Given the description of an element on the screen output the (x, y) to click on. 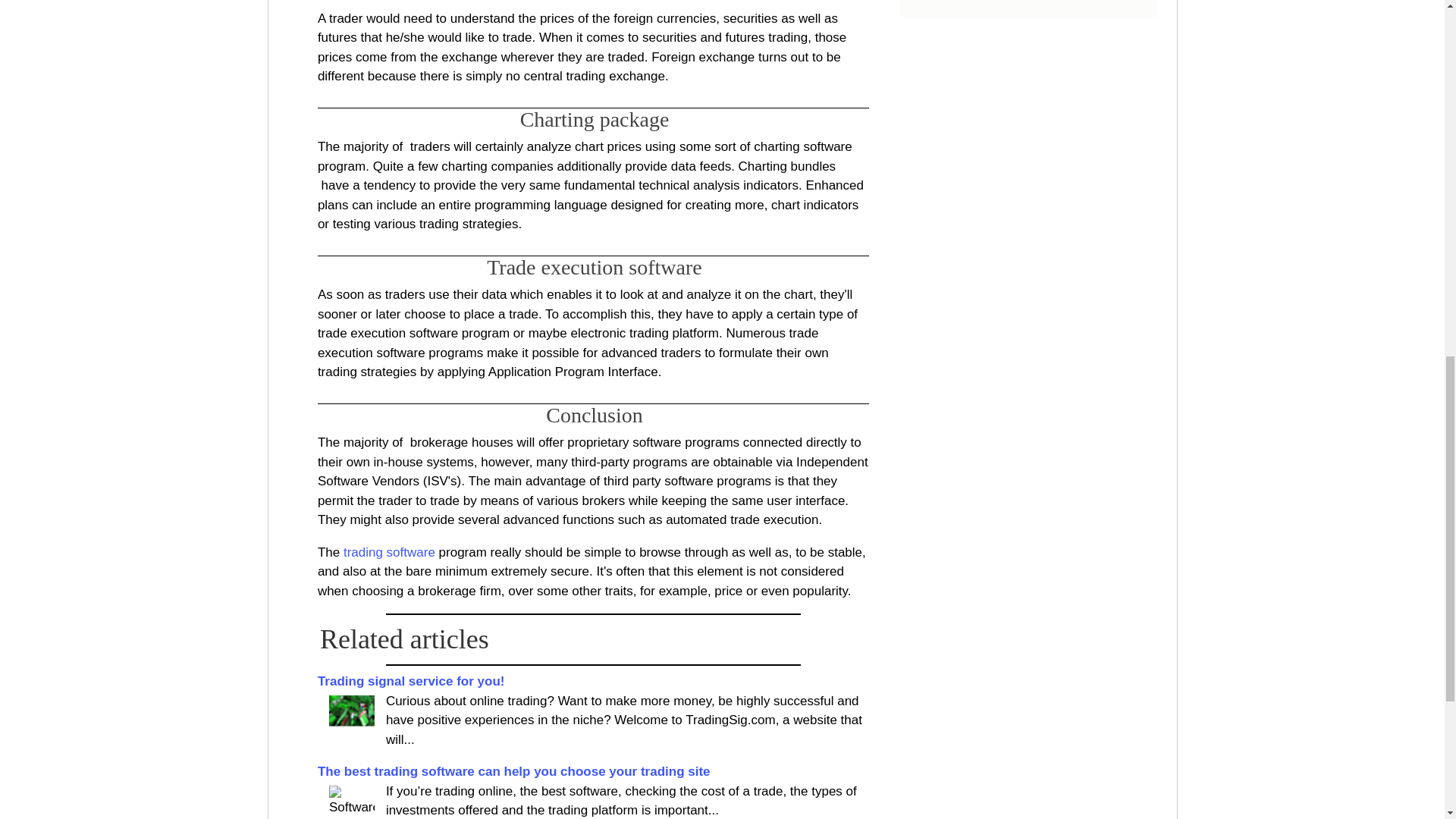
Trading (351, 712)
trading software (389, 552)
Software (351, 802)
